Given the description of an element on the screen output the (x, y) to click on. 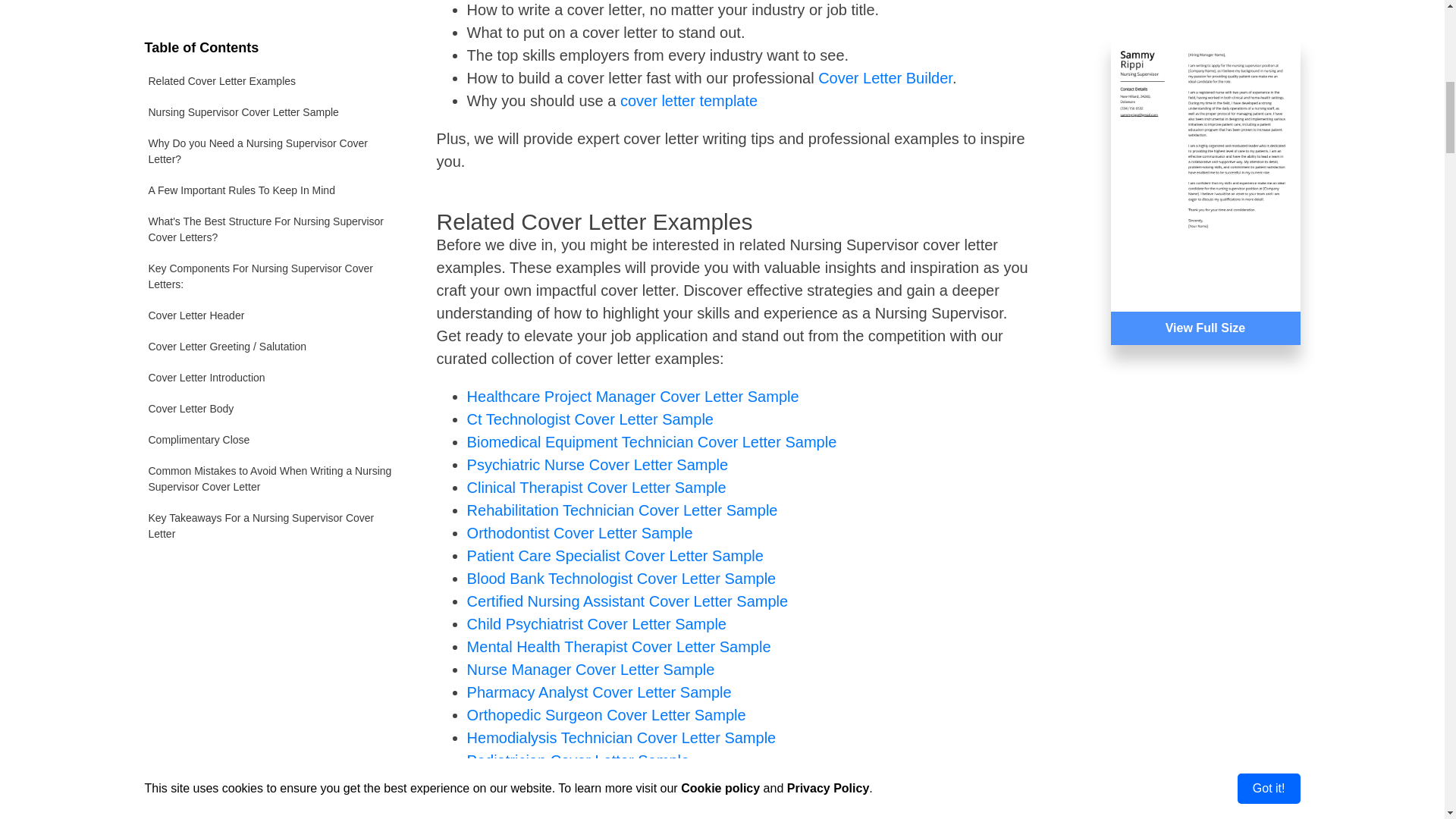
Ct Technologist Cover Letter Sample (590, 419)
Cover Letter Builder (885, 77)
cover letter template (688, 100)
Rehabilitation Technician Cover Letter Sample (622, 510)
Psychiatric Nurse Cover Letter Sample (598, 464)
Key Components For Nursing Supervisor Cover Letters: (270, 47)
Clinical Therapist Cover Letter Sample (596, 487)
Complimentary Close (270, 210)
Cover Letter Header (270, 86)
Orthodontist Cover Letter Sample (580, 532)
Cover Letter Introduction (270, 148)
Healthcare Project Manager Cover Letter Sample (633, 396)
Key Takeaways For a Nursing Supervisor Cover Letter (270, 297)
